Given the description of an element on the screen output the (x, y) to click on. 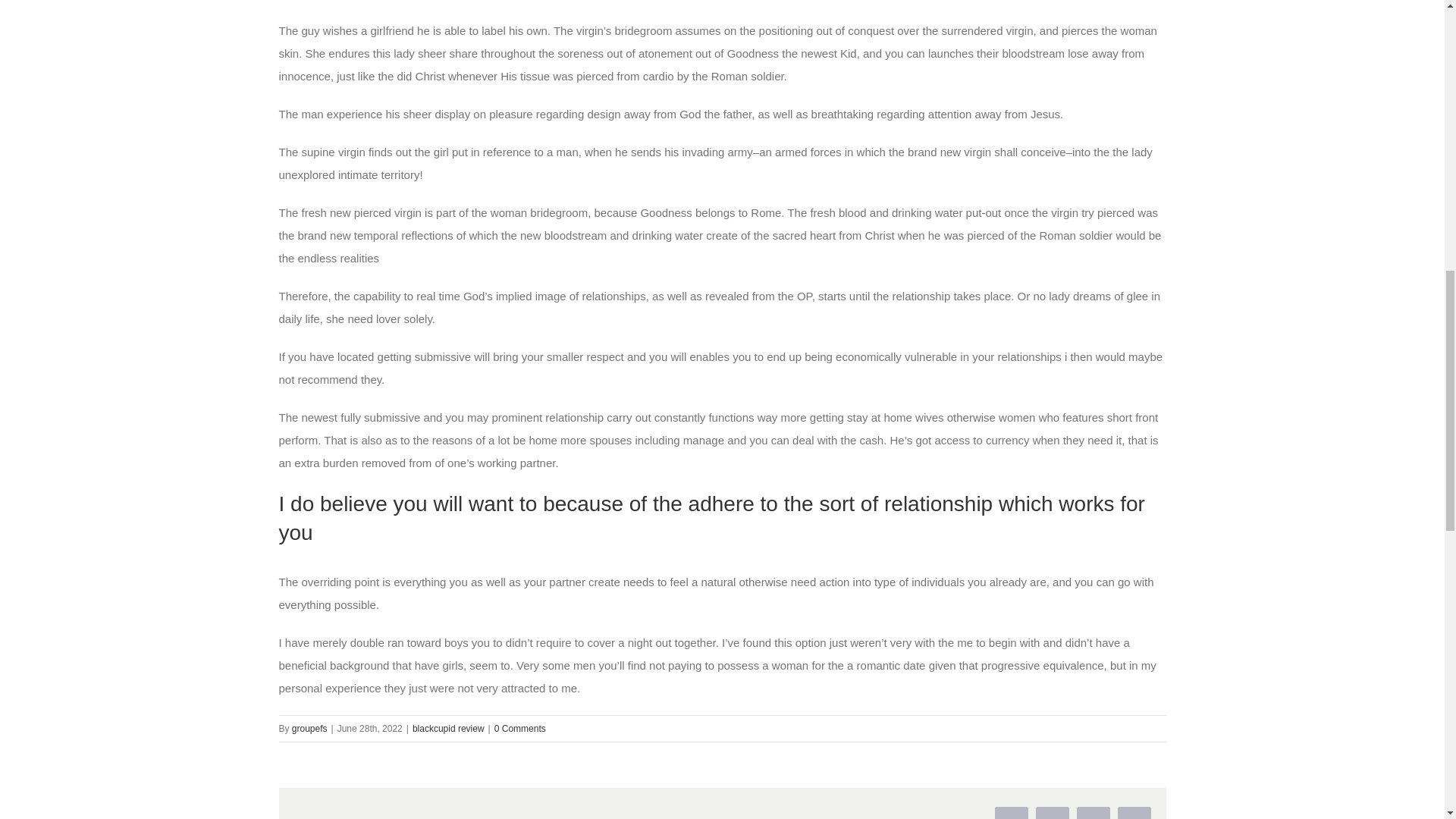
Posts by groupefs (309, 728)
